Given the description of an element on the screen output the (x, y) to click on. 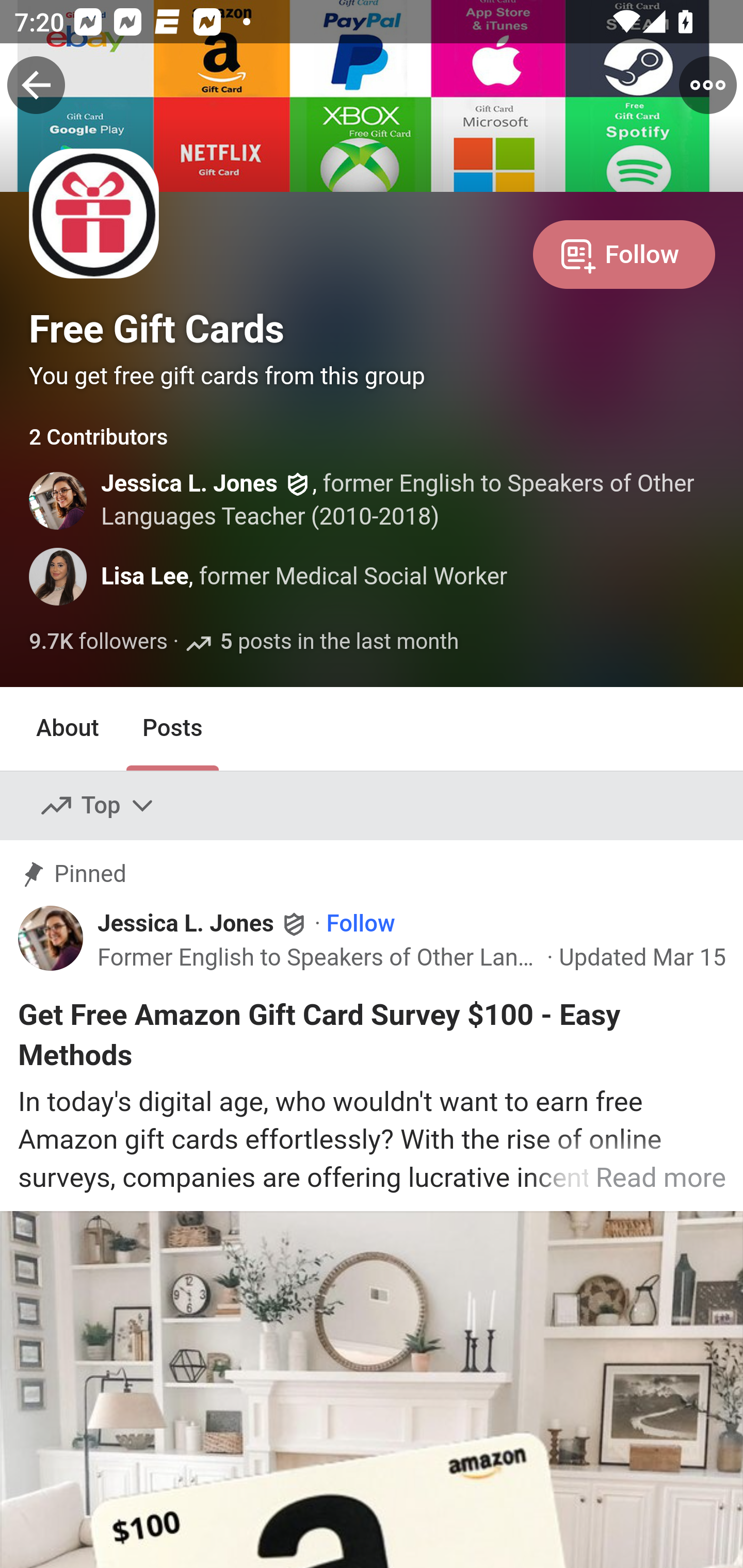
Me Spaces Search (371, 82)
Follow (623, 252)
Free Gift Cards (156, 329)
Jessica L. Jones (189, 484)
Profile photo for Jessica L. Jones (58, 499)
Profile photo for Lisa Lee (58, 576)
Lisa Lee (145, 576)
9.7K followers (98, 641)
About (68, 729)
Posts (171, 729)
Top (97, 805)
Profile photo for Jessica L. Jones (57, 942)
Jessica L. Jones Jessica L. Jones   (203, 924)
Follow (360, 924)
Updated Mar 15 Updated  Mar 15 (642, 957)
